Given the description of an element on the screen output the (x, y) to click on. 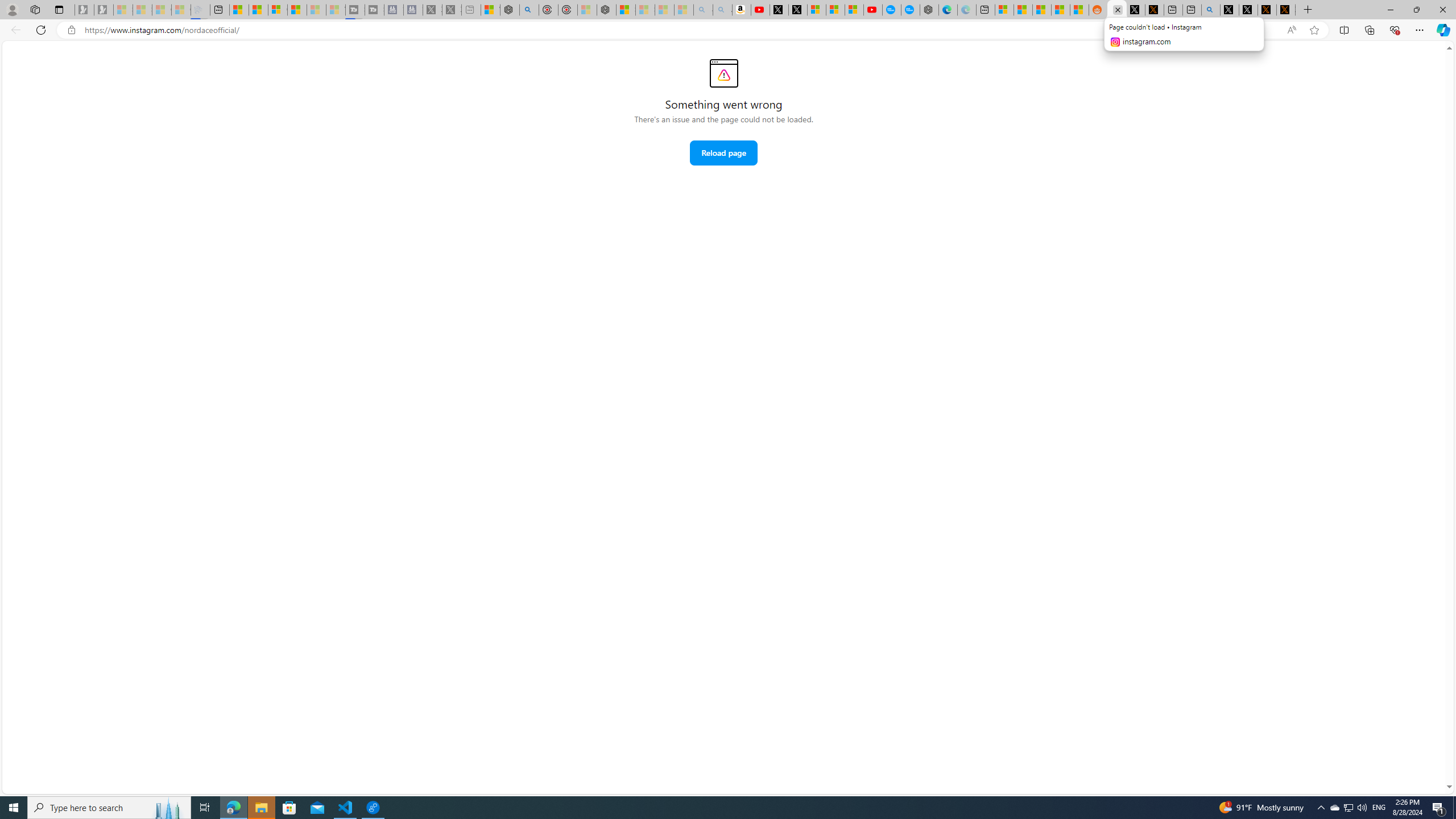
Day 1: Arriving in Yemen (surreal to be here) - YouTube (759, 9)
Microsoft Start - Sleeping (315, 9)
Microsoft account | Microsoft Account Privacy Settings (1004, 9)
Gloom - YouTube (872, 9)
Profile / X (1229, 9)
amazon - Search - Sleeping (702, 9)
Overview (277, 9)
